Given the description of an element on the screen output the (x, y) to click on. 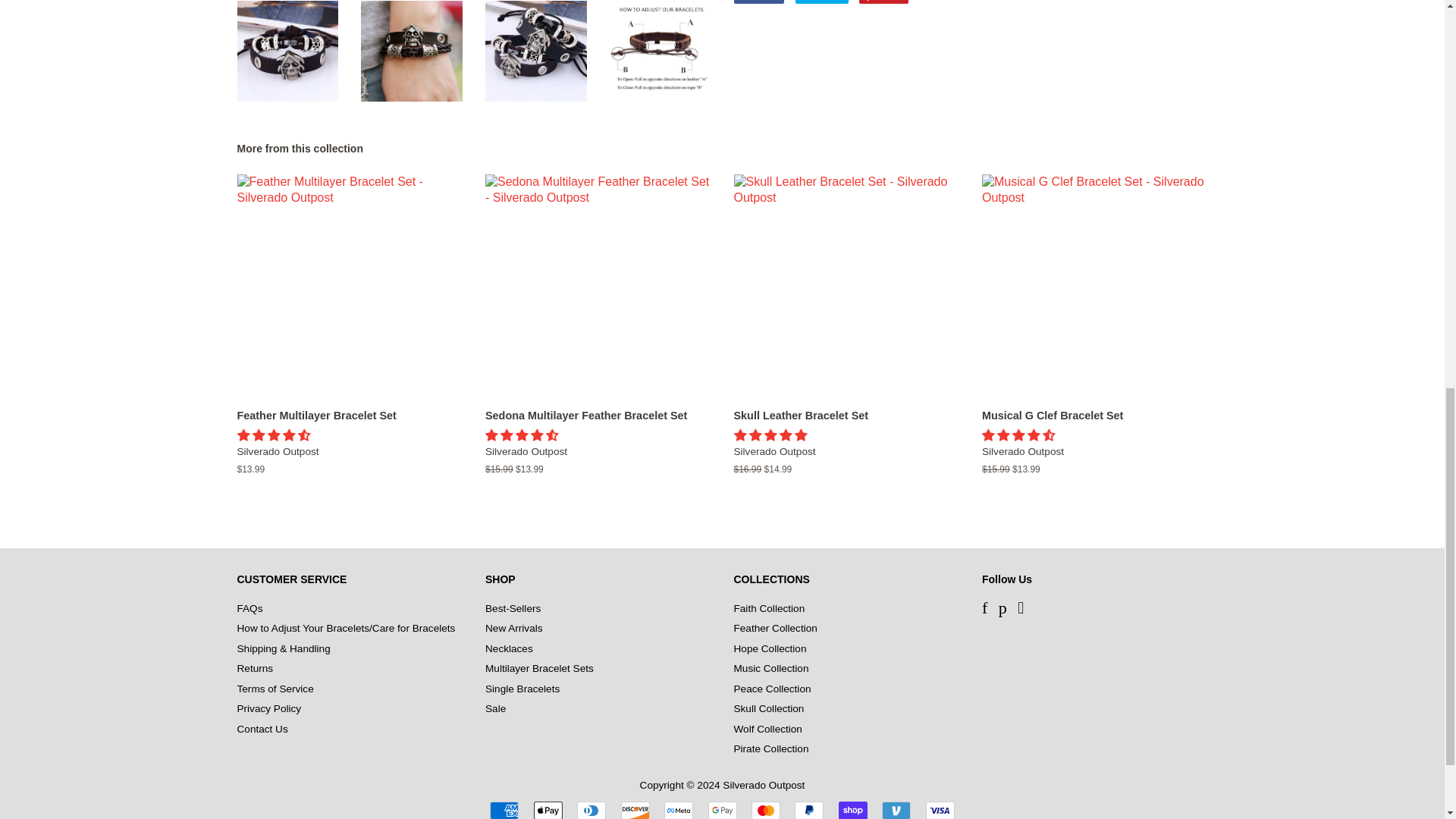
PayPal (809, 810)
Venmo (896, 810)
Meta Pay (678, 810)
Discover (635, 810)
Shop Pay (852, 810)
Pin on Pinterest (883, 1)
Google Pay (721, 810)
Share on Facebook (758, 1)
American Express (503, 810)
Mastercard (765, 810)
Visa (940, 810)
Apple Pay (548, 810)
Tweet on Twitter (821, 1)
Diners Club (590, 810)
